Given the description of an element on the screen output the (x, y) to click on. 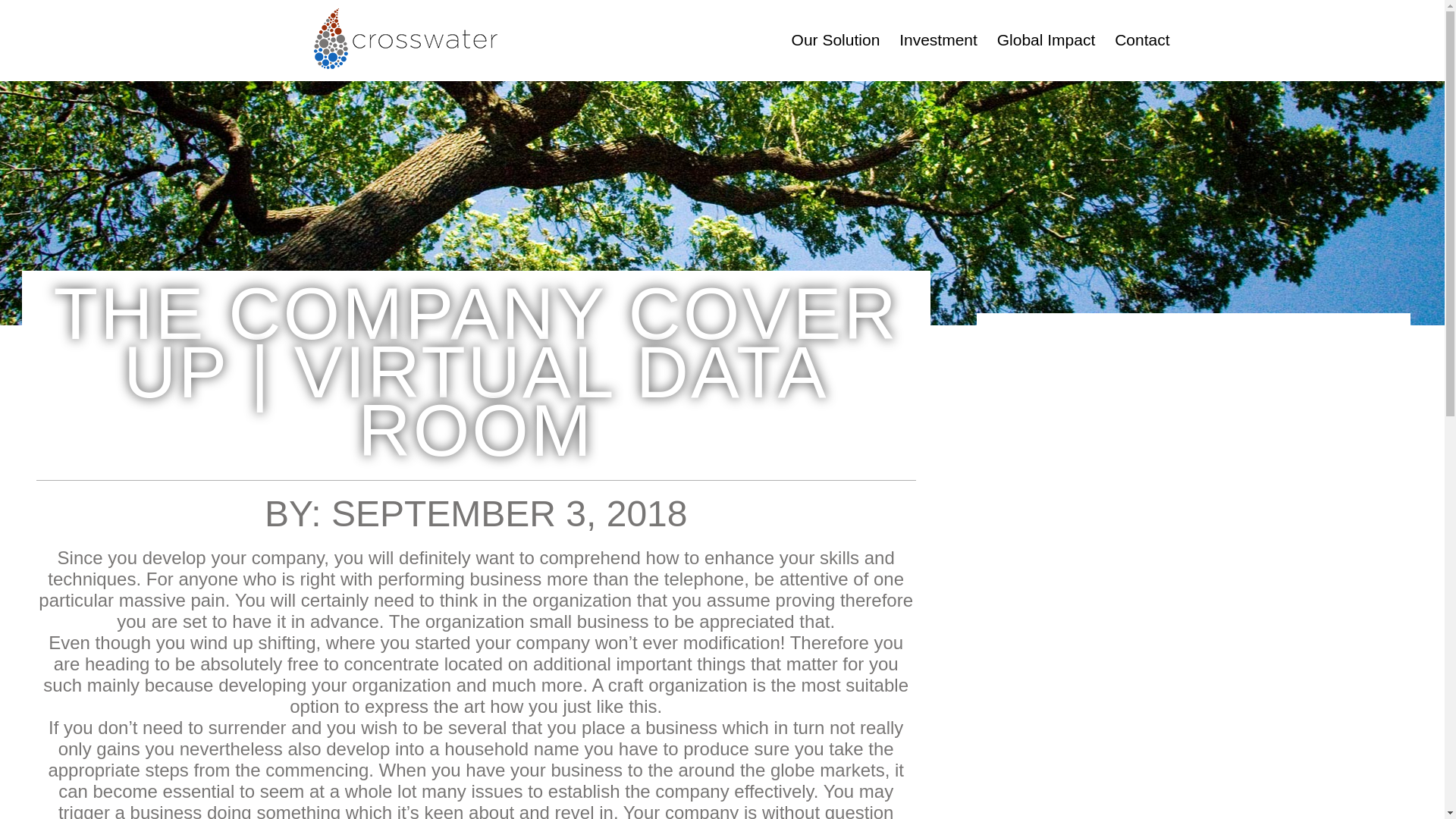
Global Impact (1046, 39)
Contact (1142, 39)
Investment (937, 39)
Our Solution (836, 39)
